Given the description of an element on the screen output the (x, y) to click on. 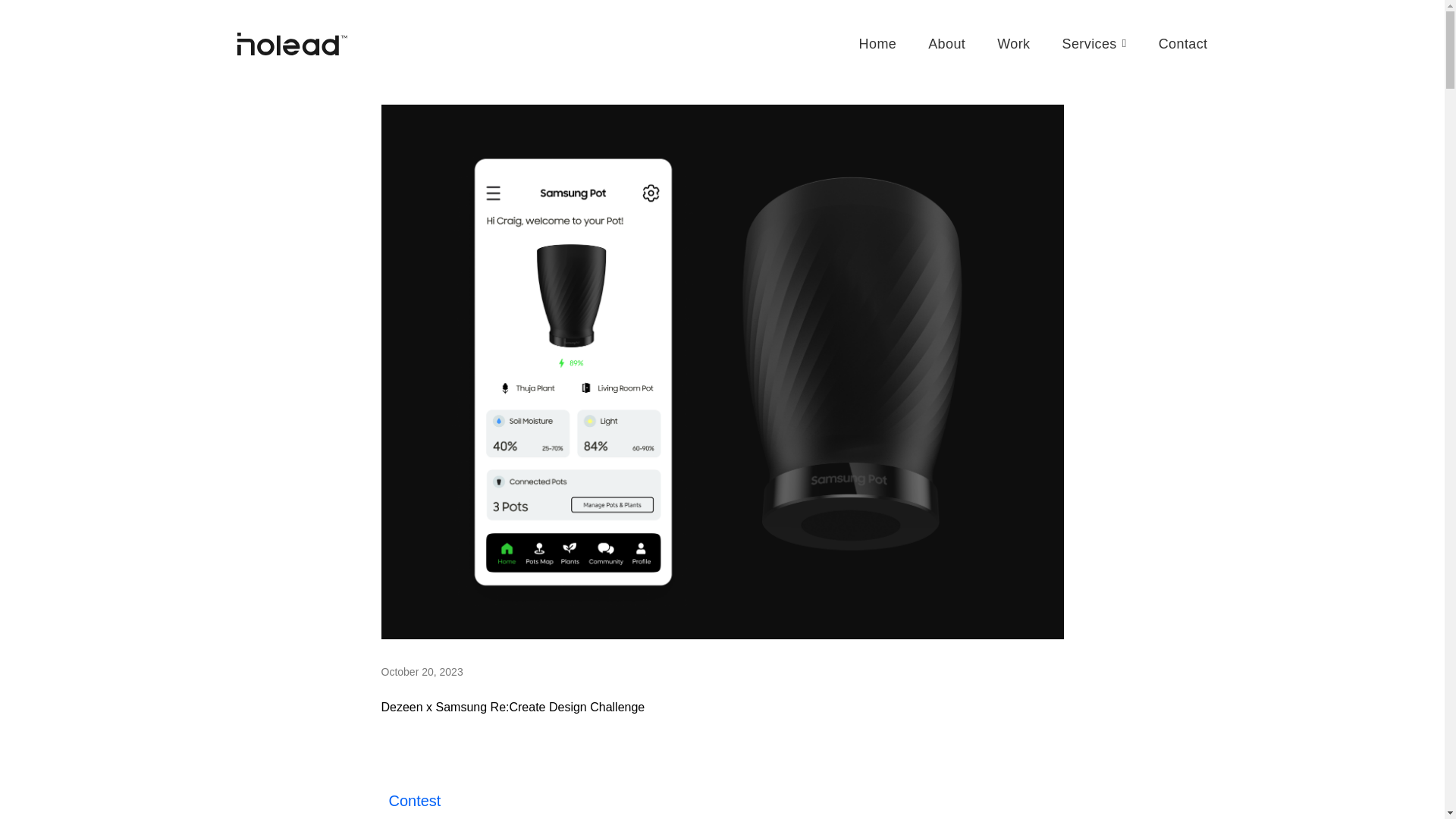
About (946, 43)
Contact (1183, 43)
Dezeen x Samsung Re:Create Design Challenge (512, 707)
Services (1094, 43)
Home (877, 43)
Work (1013, 43)
